Given the description of an element on the screen output the (x, y) to click on. 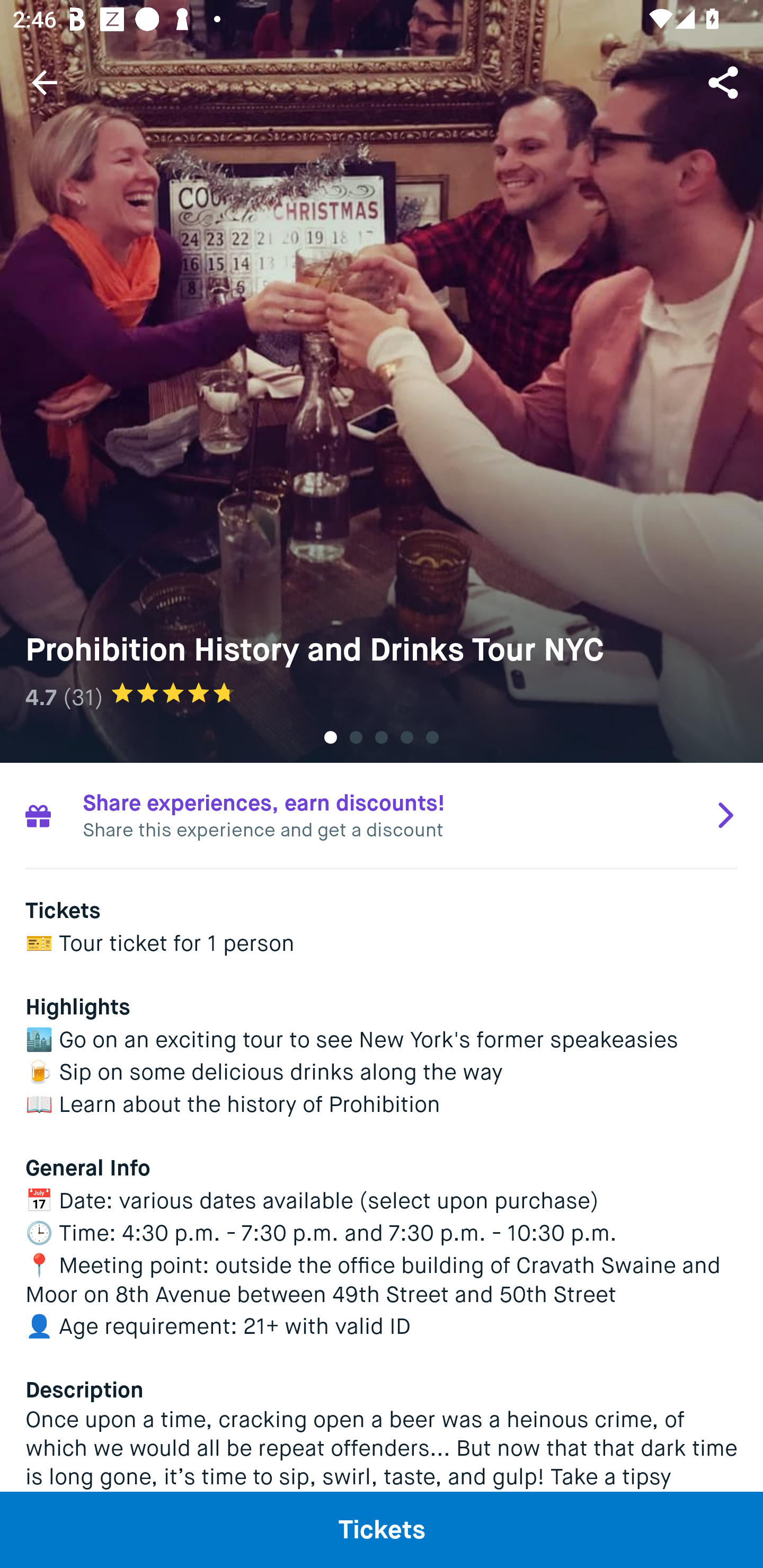
Navigate up (44, 82)
Share (724, 81)
(31) (83, 697)
Tickets (381, 1529)
